Given the description of an element on the screen output the (x, y) to click on. 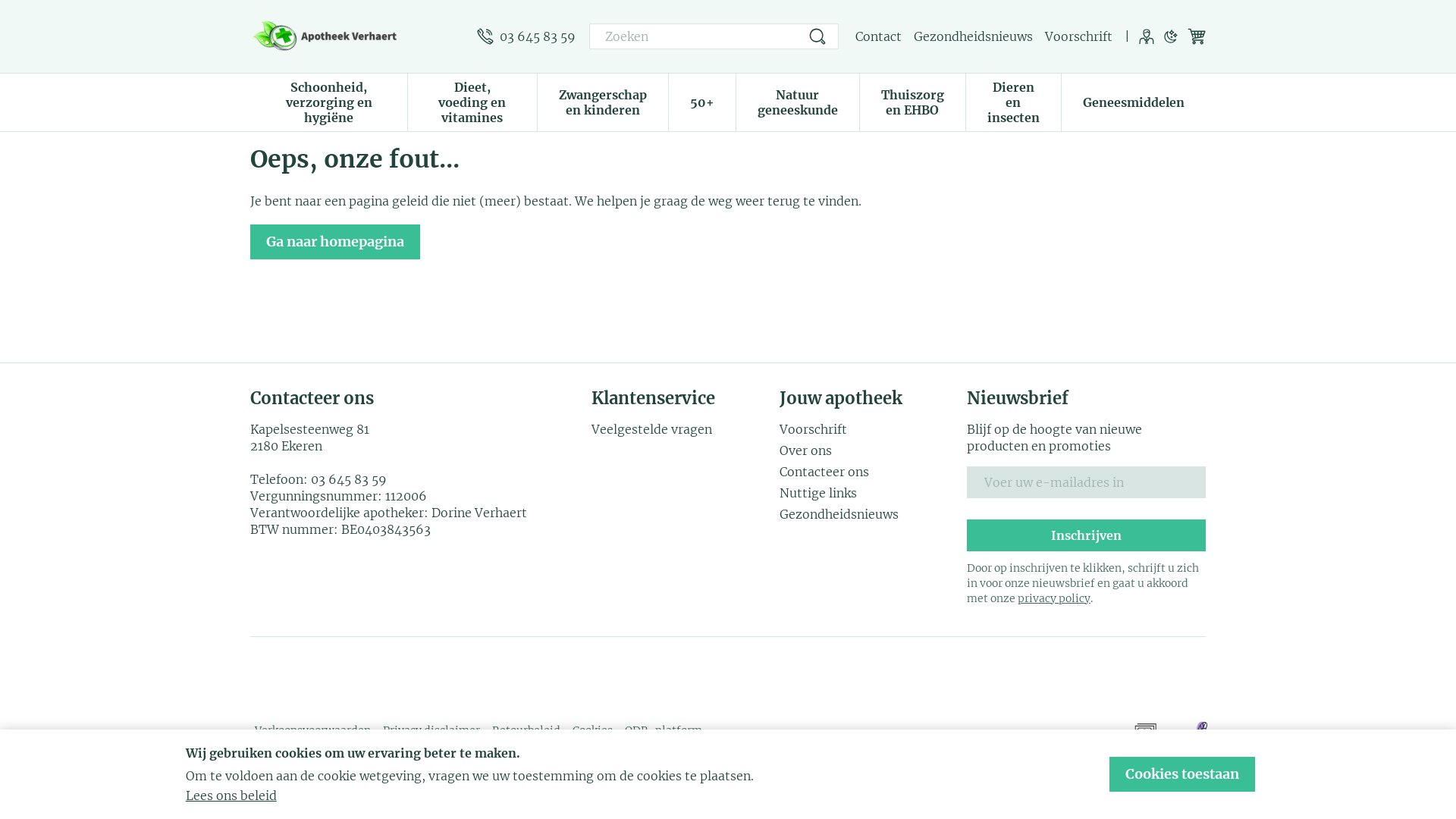
Veelgestelde vragen Element type: text (679, 428)
Inschrijven Element type: text (1085, 535)
Ga naar homepagina Element type: text (335, 241)
Privacy disclaimer Element type: text (431, 729)
Cookies Element type: text (592, 729)
50+ Element type: text (701, 100)
Dieren en insecten Element type: text (1013, 100)
Dieet, voeding en vitamines Element type: text (471, 100)
Natuur geneeskunde Element type: text (797, 100)
Over ons Element type: text (866, 450)
Lees ons beleid Element type: text (230, 795)
Donkere modus Element type: text (1170, 35)
Contacteer ons Element type: text (866, 471)
Nuttige links Element type: text (866, 492)
Zoeken Element type: text (817, 36)
Thuiszorg en EHBO Element type: text (912, 100)
Apotheek Verhaert Element type: hover (357, 36)
Winkelwagen Element type: text (1196, 36)
03 645 83 59 Element type: text (525, 36)
Klant menu Element type: text (1146, 35)
Cookies toestaan Element type: text (1182, 773)
Voorschrift Element type: text (1078, 35)
Retourbeleid Element type: text (526, 729)
Gezondheidsnieuws Element type: text (972, 35)
Gezondheidsnieuws Element type: text (866, 513)
ODR-platform Element type: text (663, 729)
03 645 83 59 Element type: text (348, 478)
Zwangerschap en kinderen Element type: text (602, 100)
Voorschrift Element type: text (866, 428)
Geneesmiddelen Element type: text (1133, 100)
Contact Element type: text (878, 35)
Verkoopsvoorwaarden Element type: text (312, 729)
privacy policy Element type: text (1053, 598)
Apotheek Verhaert Element type: hover (325, 36)
